Given the description of an element on the screen output the (x, y) to click on. 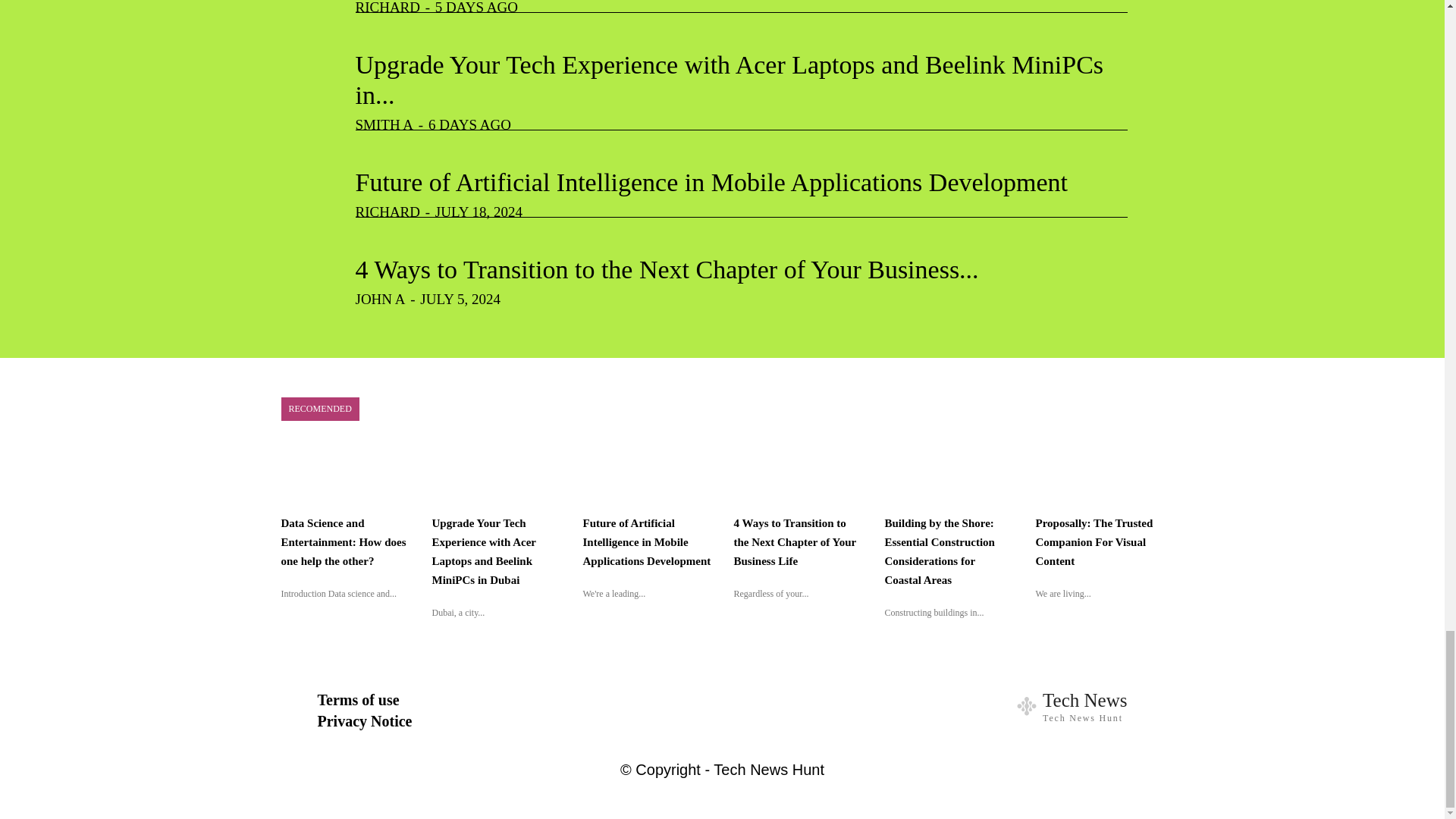
RICHARD (387, 7)
